Given the description of an element on the screen output the (x, y) to click on. 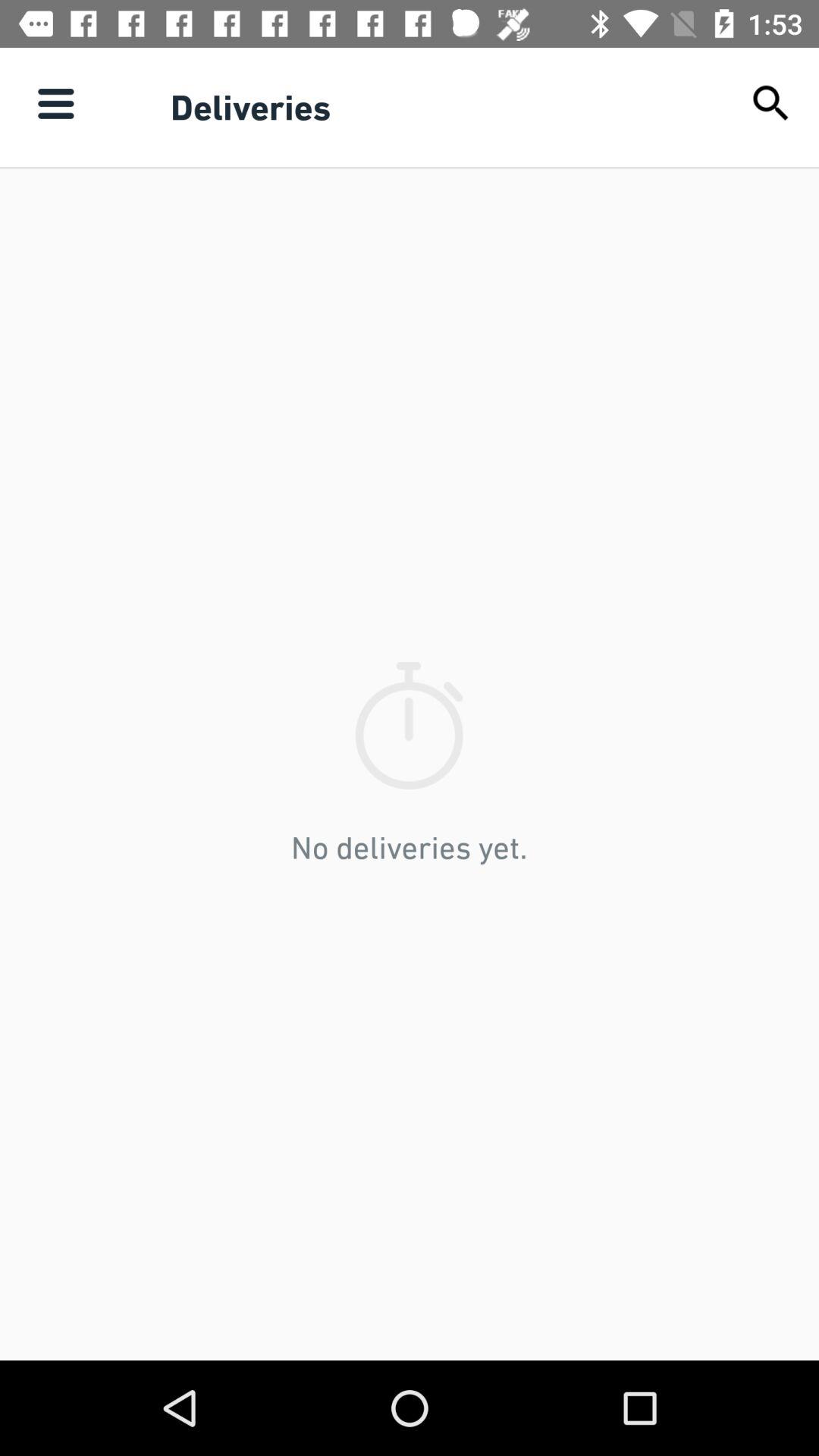
tap the icon next to deliveries (55, 103)
